Given the description of an element on the screen output the (x, y) to click on. 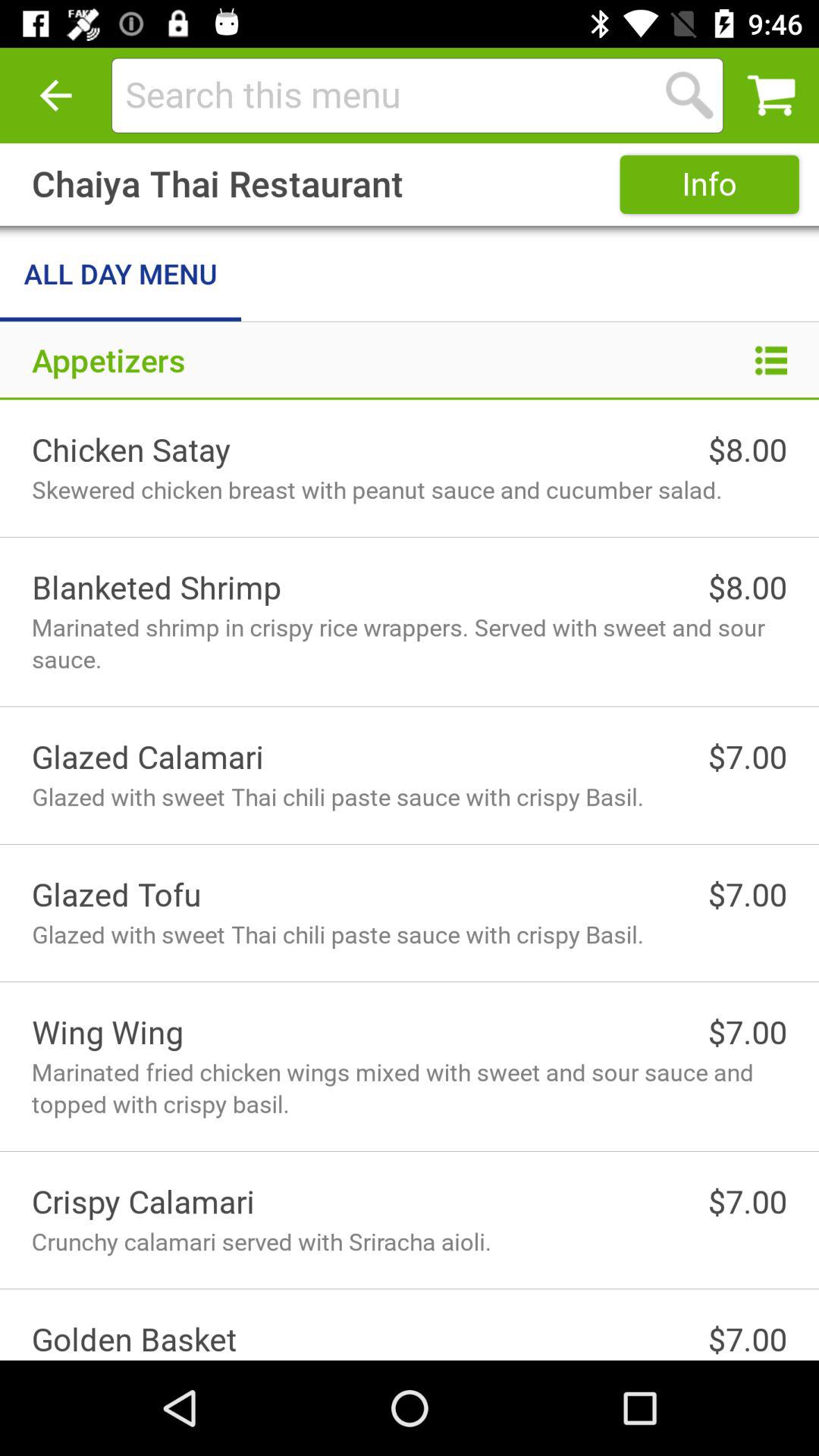
click on search icon (689, 95)
click on the cart icon (771, 95)
click on the green color button under cart icon (709, 184)
